Given the description of an element on the screen output the (x, y) to click on. 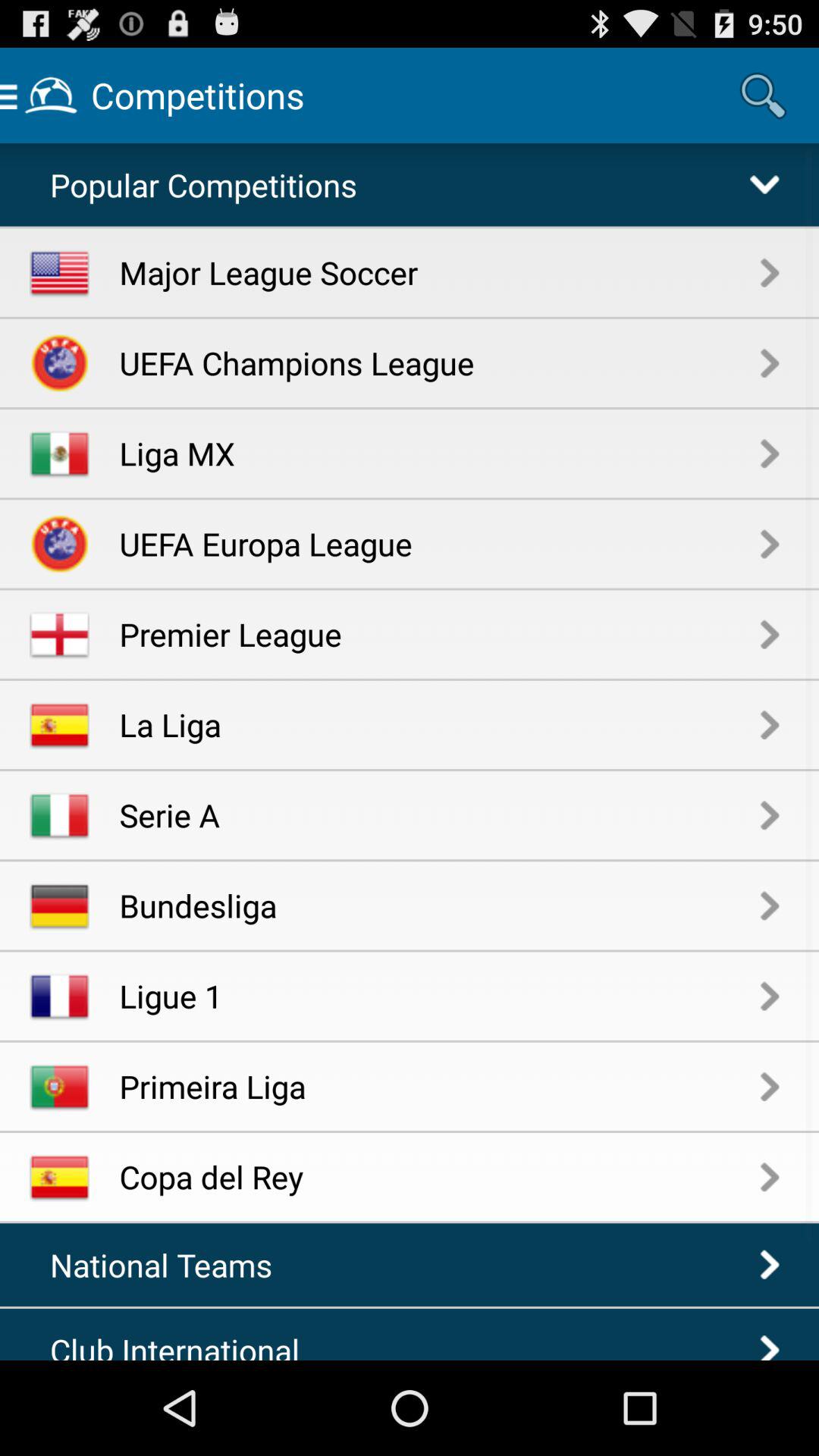
turn on the icon below premier league app (439, 724)
